Given the description of an element on the screen output the (x, y) to click on. 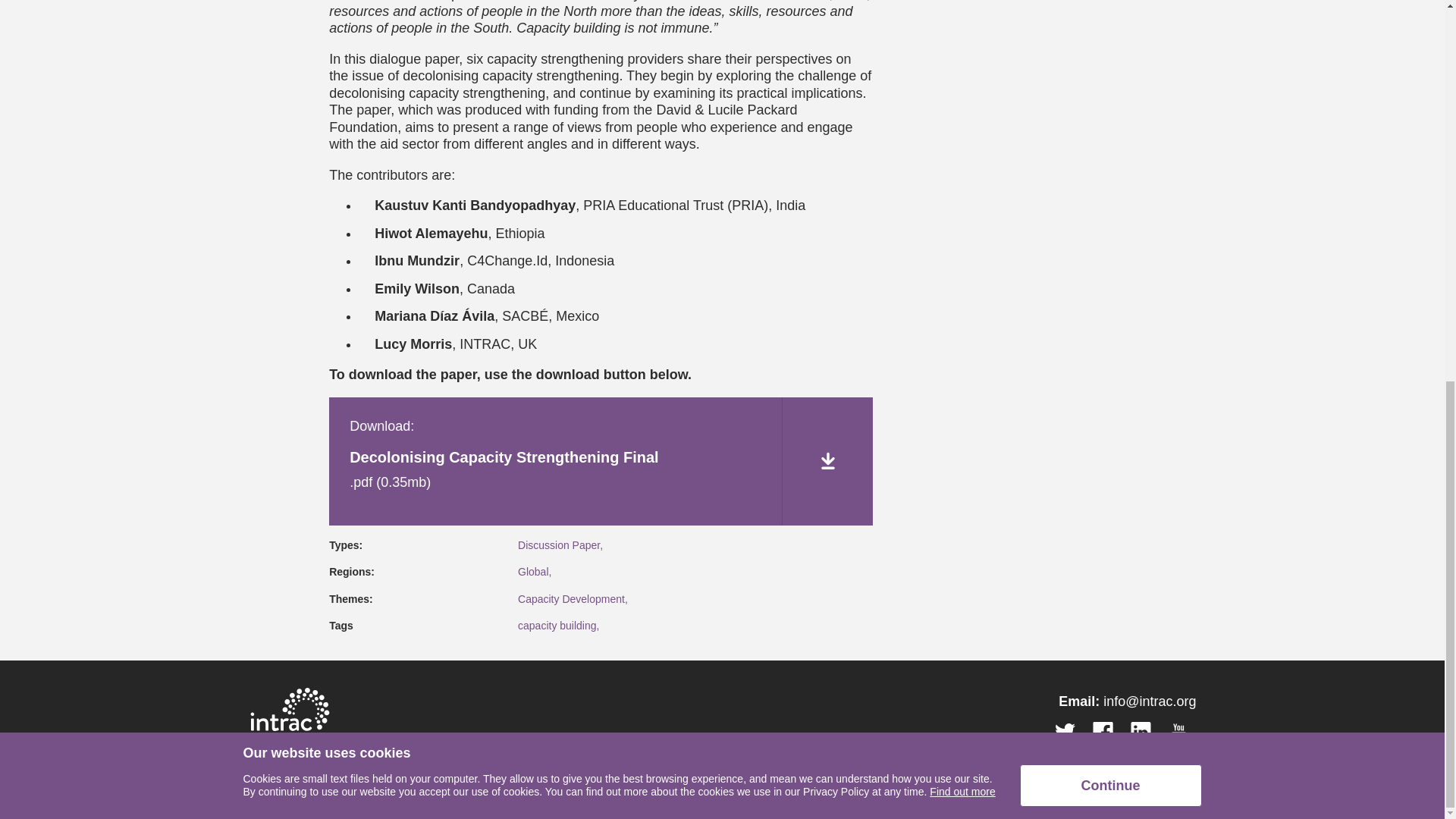
Find out more (962, 79)
Find out more (962, 79)
Continue (1110, 73)
